Given the description of an element on the screen output the (x, y) to click on. 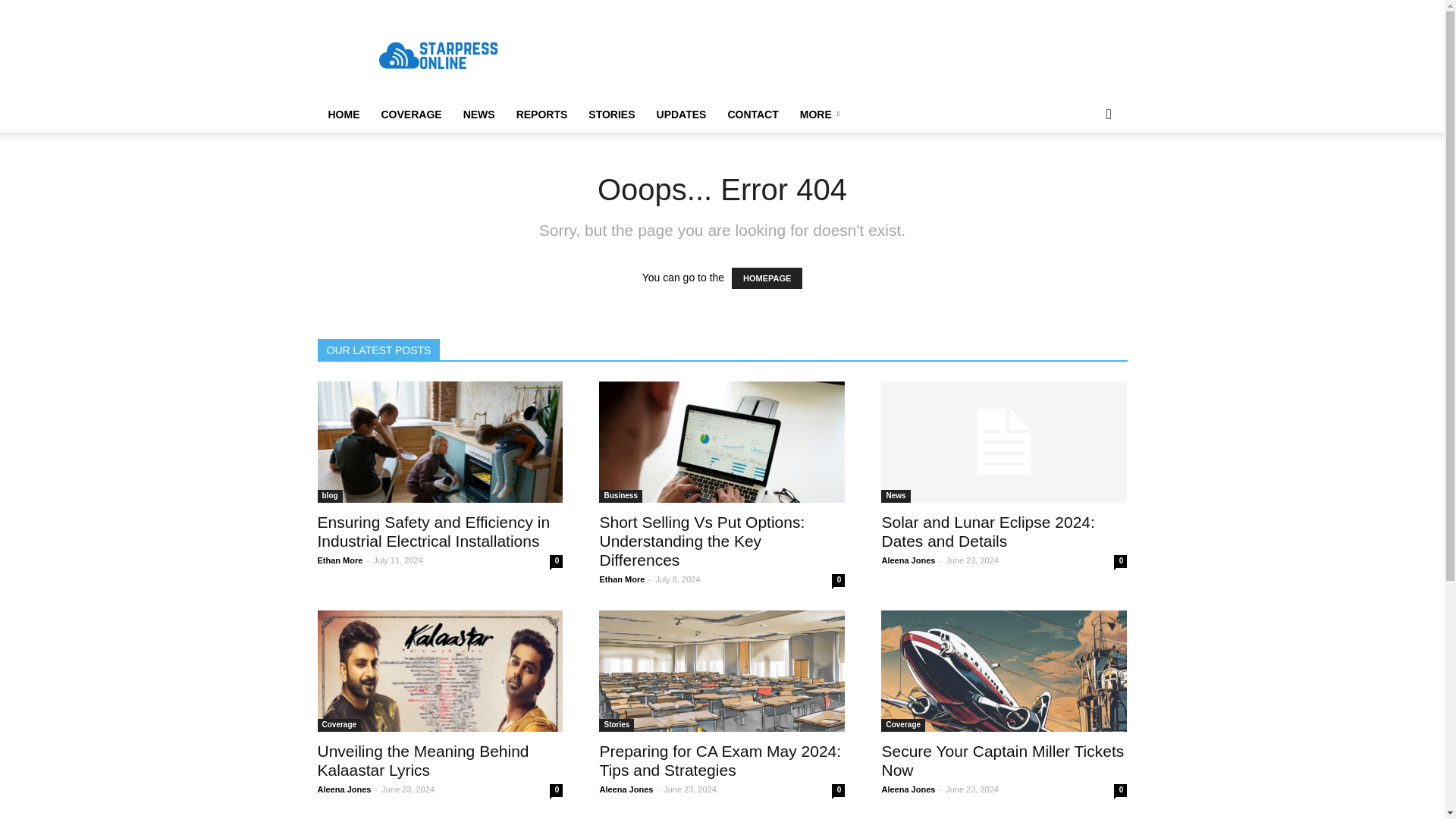
Unveiling the Meaning Behind Kalaastar Lyrics (422, 760)
Solar and Lunar Eclipse 2024: Dates and Details (987, 531)
Unveiling the Meaning Behind Kalaastar Lyrics (439, 671)
Solar and Lunar Eclipse 2024: Dates and Details (1003, 441)
